Given the description of an element on the screen output the (x, y) to click on. 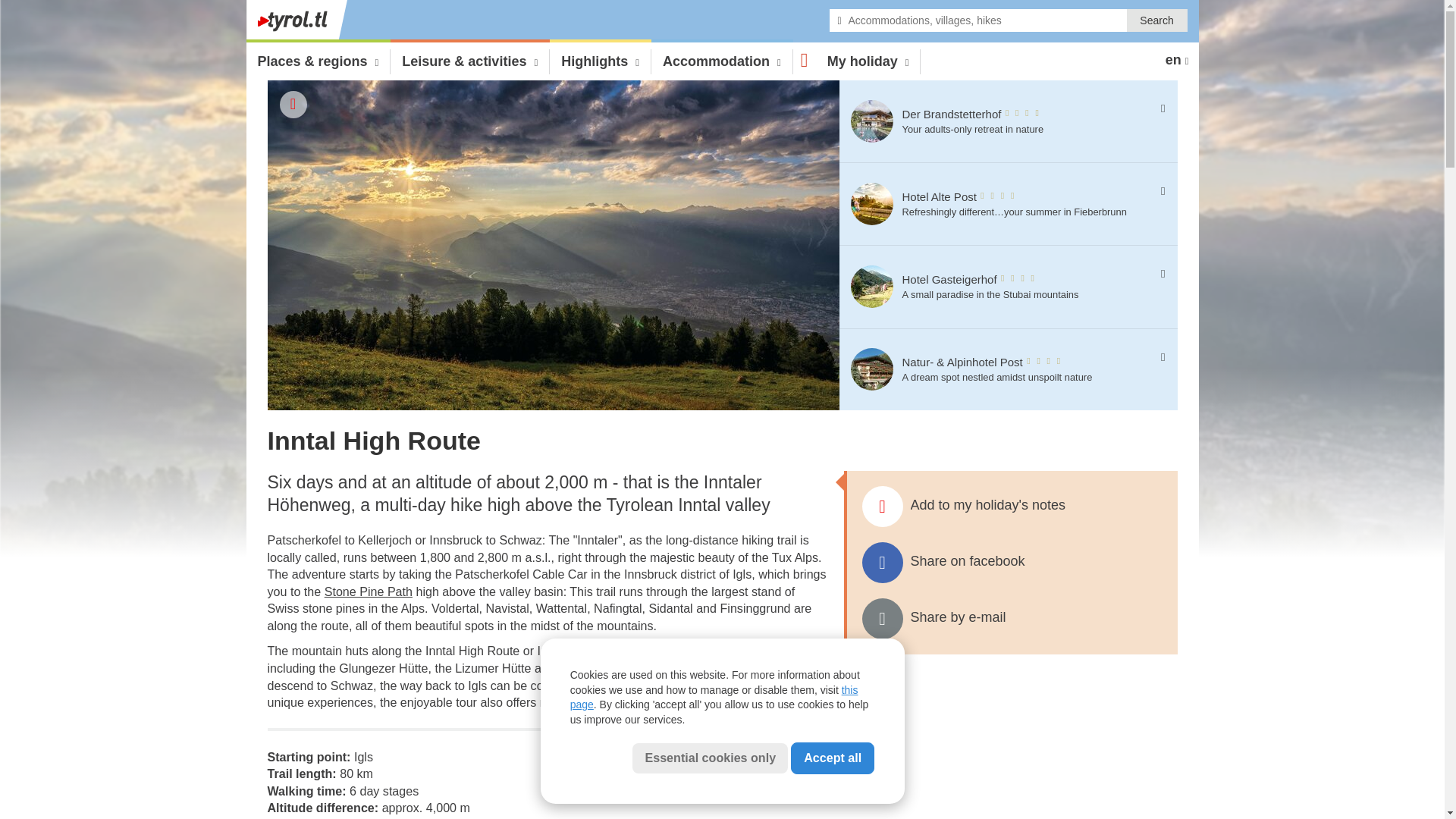
Your adults-only retreat in nature (871, 121)
Share on facebook (999, 121)
Refreshingly different...your summer in Fieberbrunn (1011, 562)
Share by e-mail (871, 204)
Stone Pine Path (999, 286)
A small paradise in the Stubai mountains (1011, 618)
A dream spot nestled amidst unspoilt nature (368, 591)
Tyrol (871, 287)
